Given the description of an element on the screen output the (x, y) to click on. 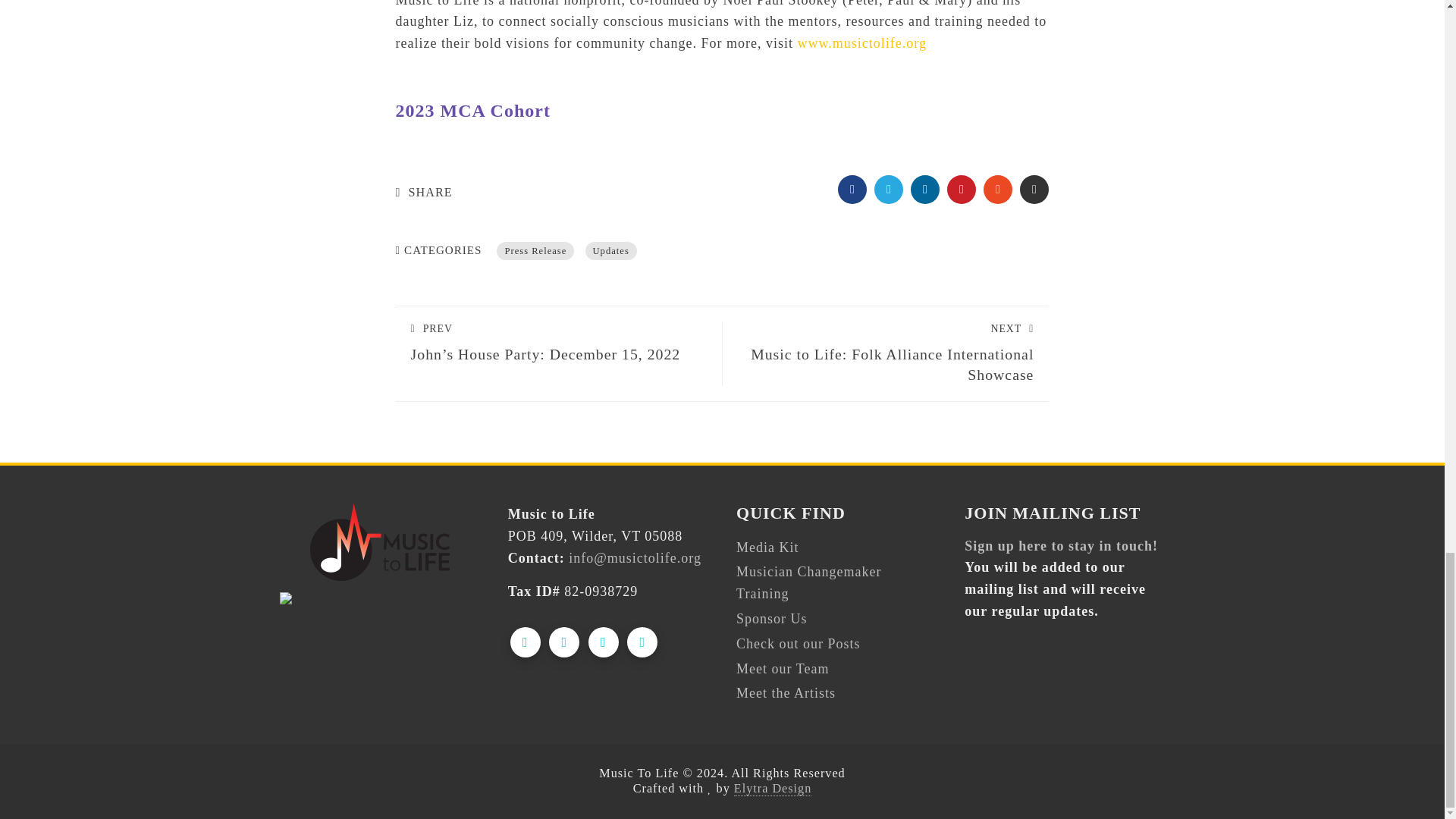
www.musictolife.org (861, 43)
